Given the description of an element on the screen output the (x, y) to click on. 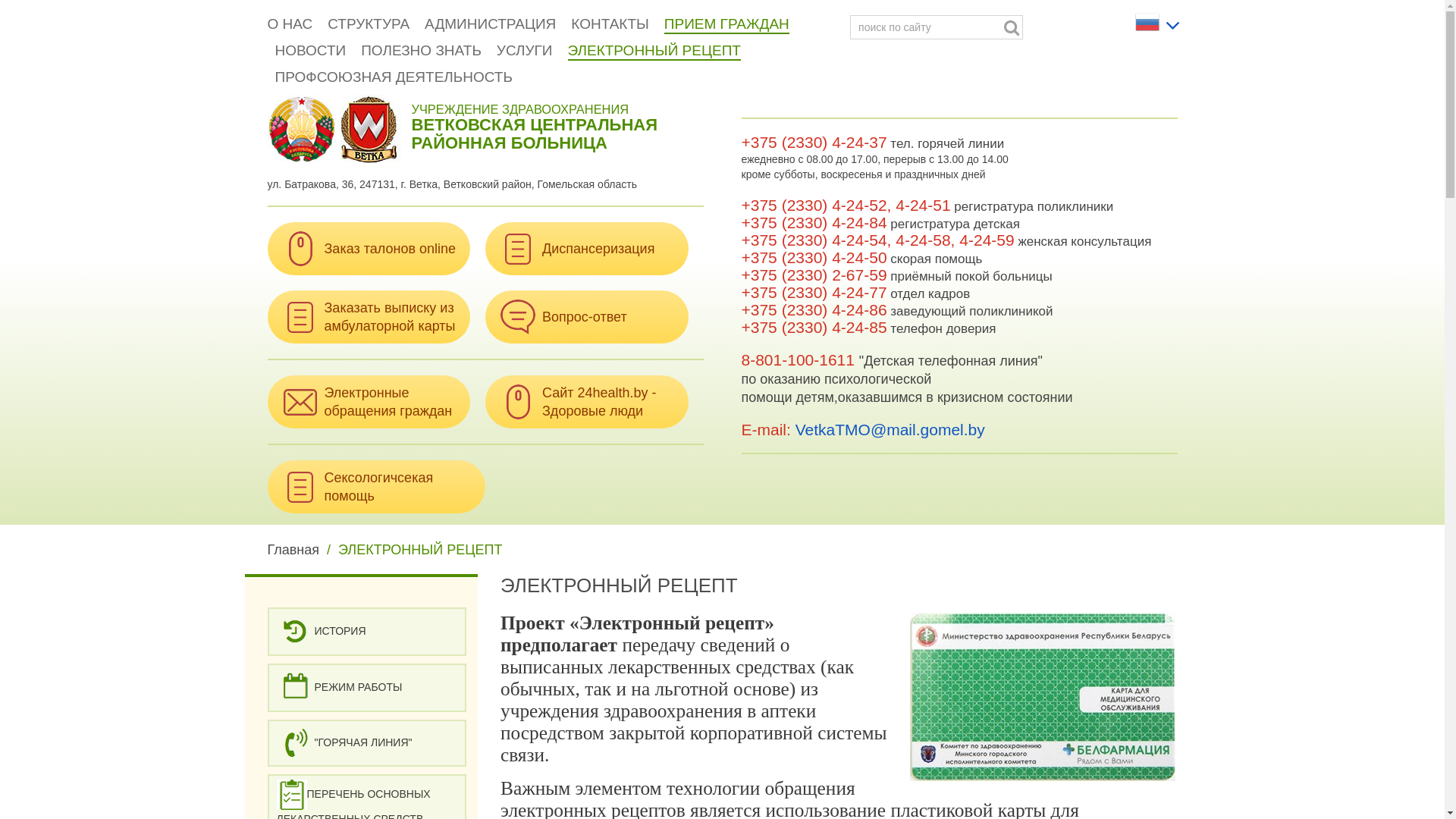
VetkaTMO@mail.gomel.by Element type: text (890, 429)
Russian Element type: hover (1149, 21)
